Given the description of an element on the screen output the (x, y) to click on. 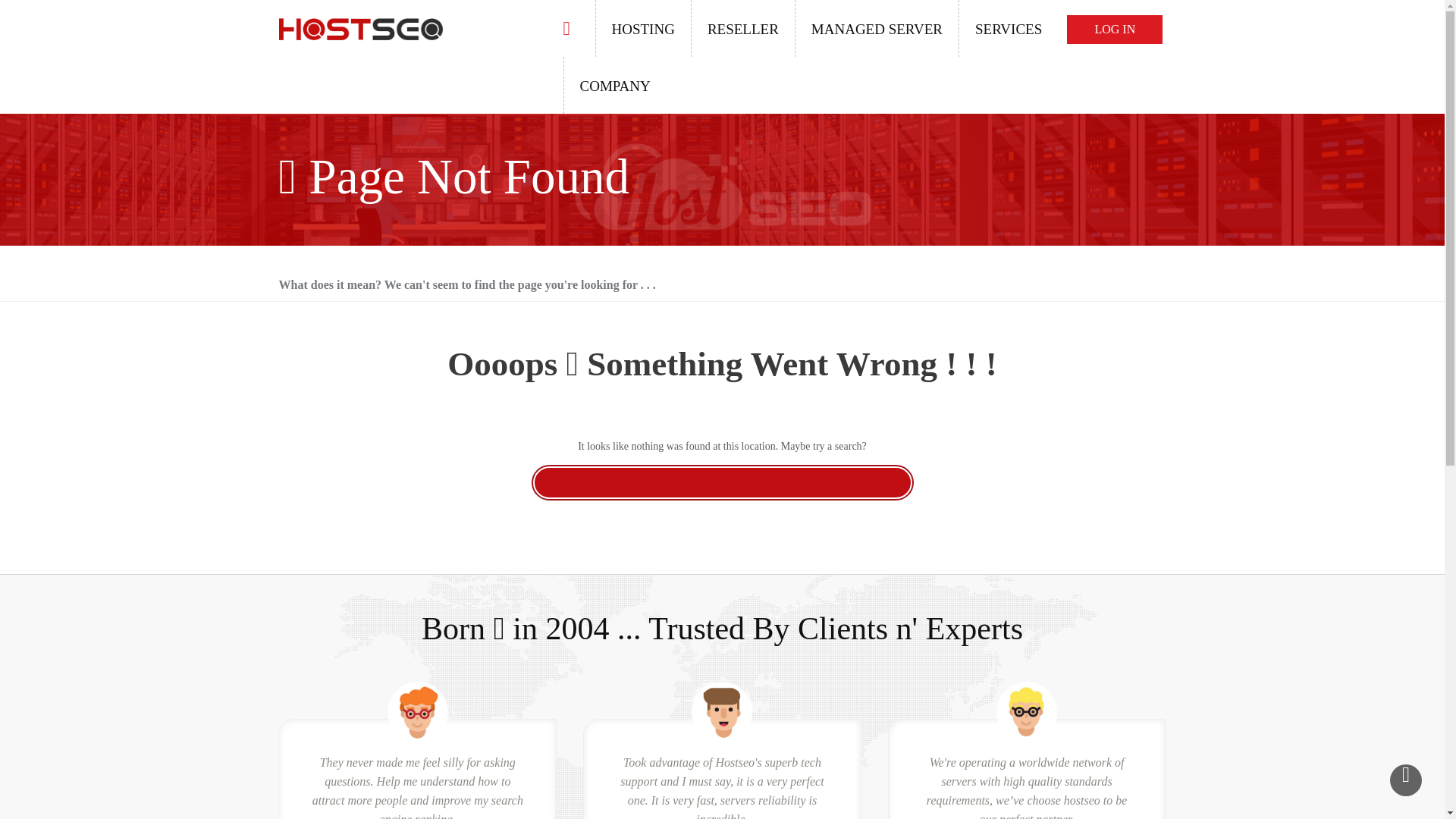
MANAGED SERVER (876, 28)
HOSTING (642, 28)
SERVICES (1008, 28)
COMPANY (613, 84)
RESELLER (742, 28)
